Given the description of an element on the screen output the (x, y) to click on. 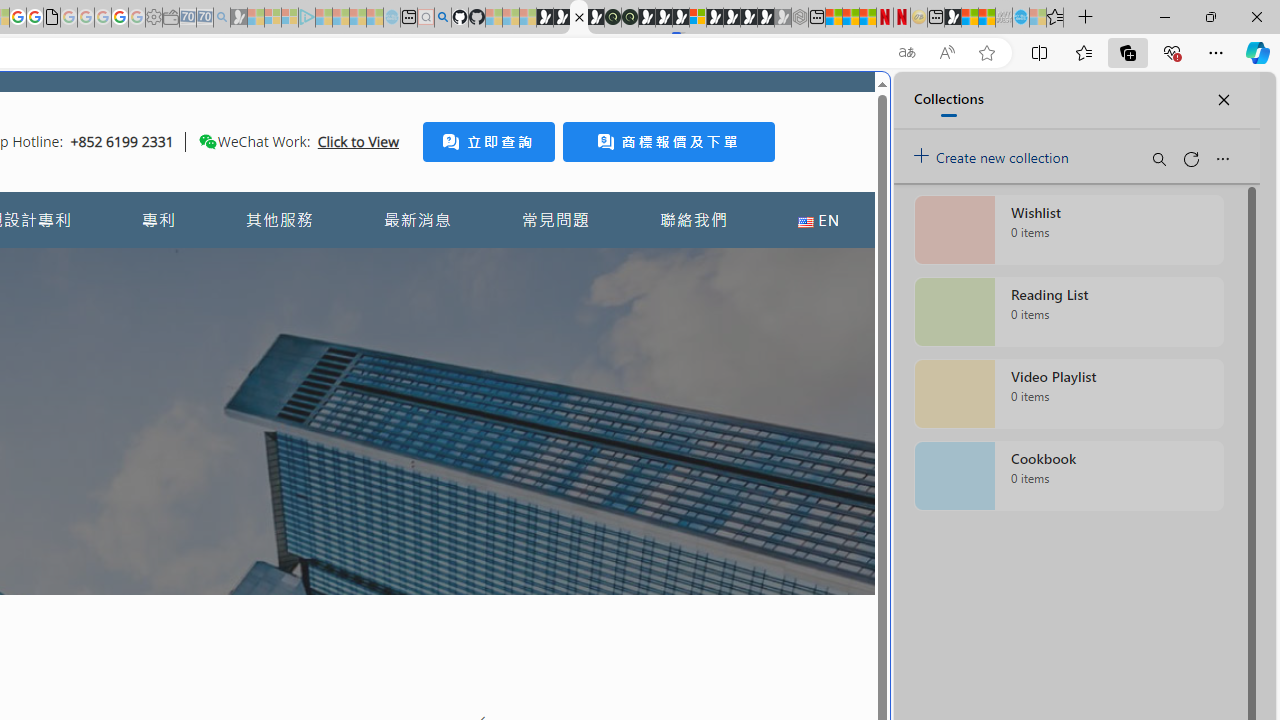
Sign in to your account (697, 17)
Class: desktop (207, 141)
Microsoft Start - Sleeping (357, 17)
Wallet - Sleeping (170, 17)
